Given the description of an element on the screen output the (x, y) to click on. 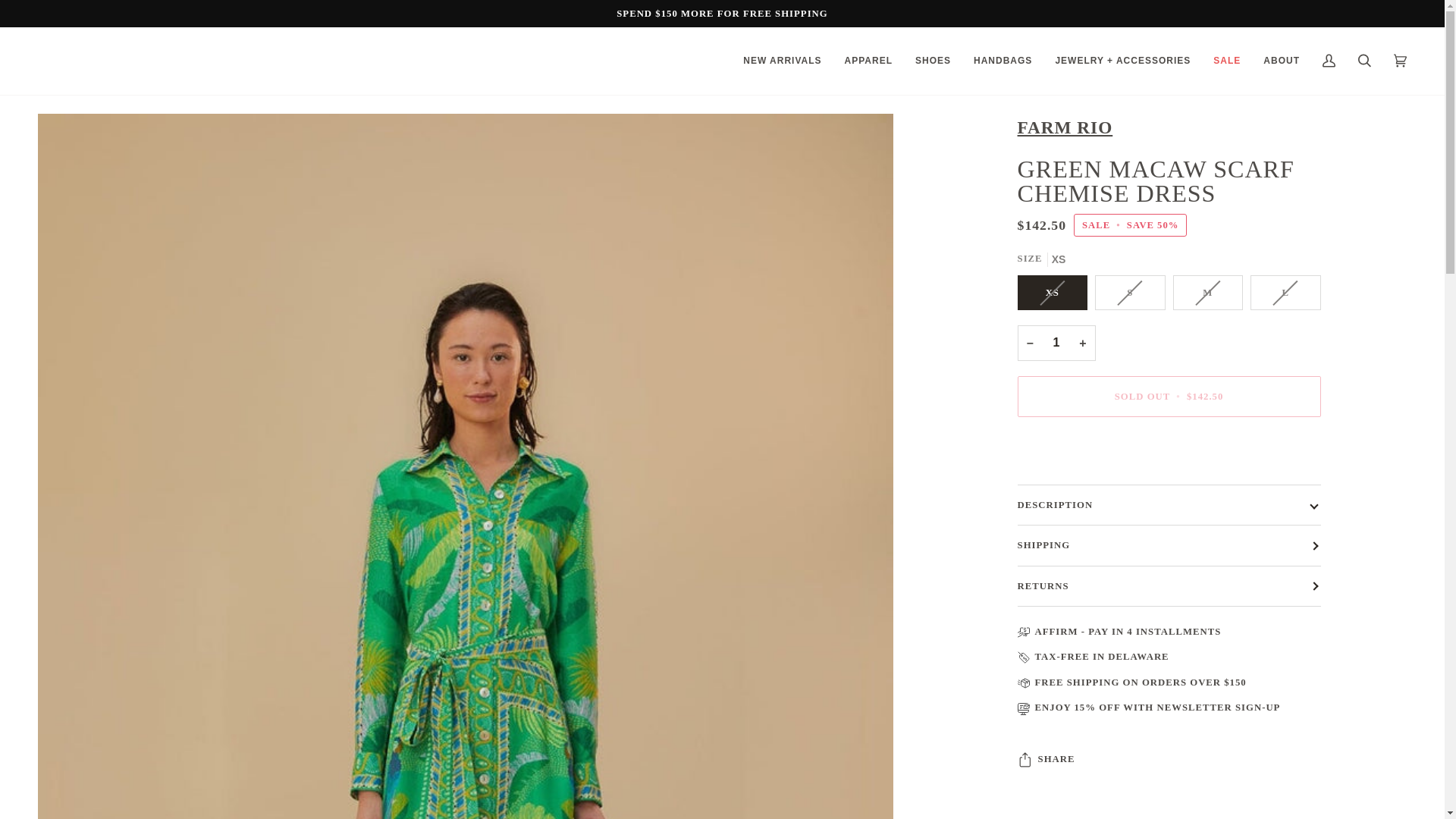
Affirm (1056, 631)
1 (1056, 343)
HANDBAGS (1002, 61)
APPAREL (868, 61)
Signup (1256, 706)
NEW ARRIVALS (782, 61)
